Given the description of an element on the screen output the (x, y) to click on. 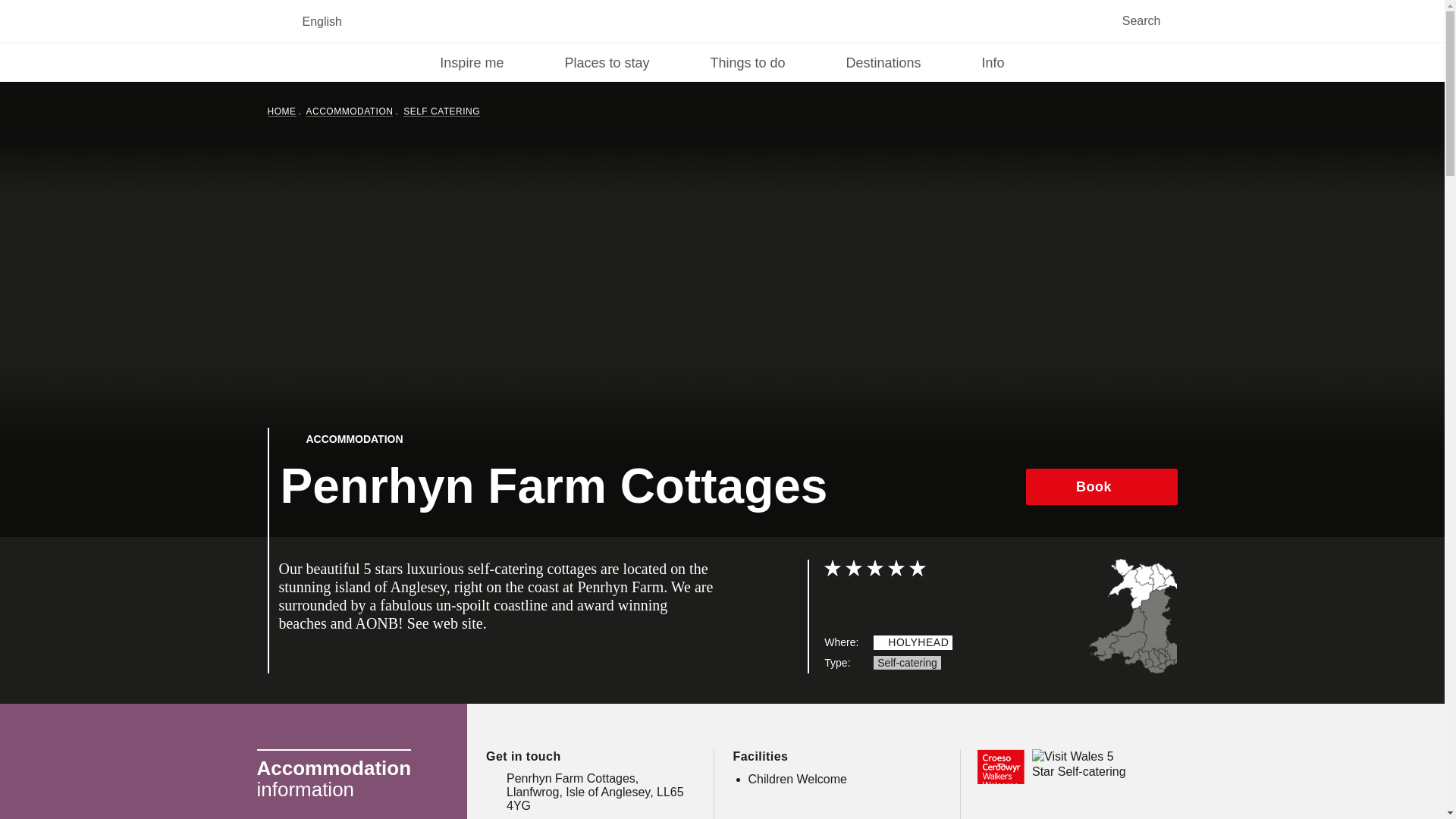
Places to stay (606, 62)
Things to do (747, 62)
ACCOMMODATION (349, 111)
Self-catering (906, 662)
Search (1156, 21)
HOME (280, 111)
Homepage (721, 20)
Destinations (883, 62)
Inspire me (471, 62)
